Given the description of an element on the screen output the (x, y) to click on. 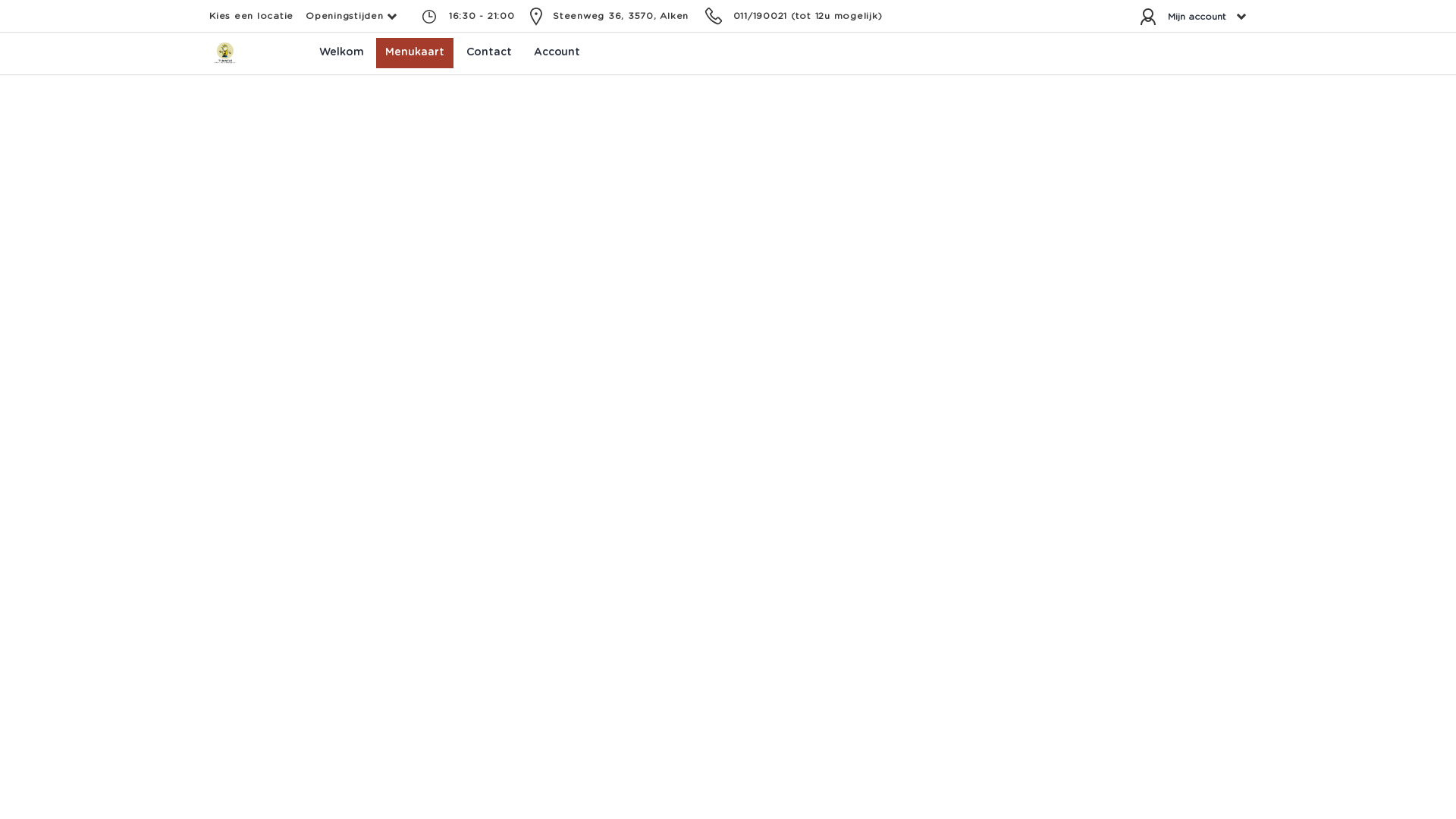
Welkom Element type: text (341, 52)
Contact Element type: text (488, 52)
Menukaart Element type: text (414, 52)
Account Element type: text (556, 52)
011/190021 (tot 12u mogelijk) Element type: text (806, 15)
